Given the description of an element on the screen output the (x, y) to click on. 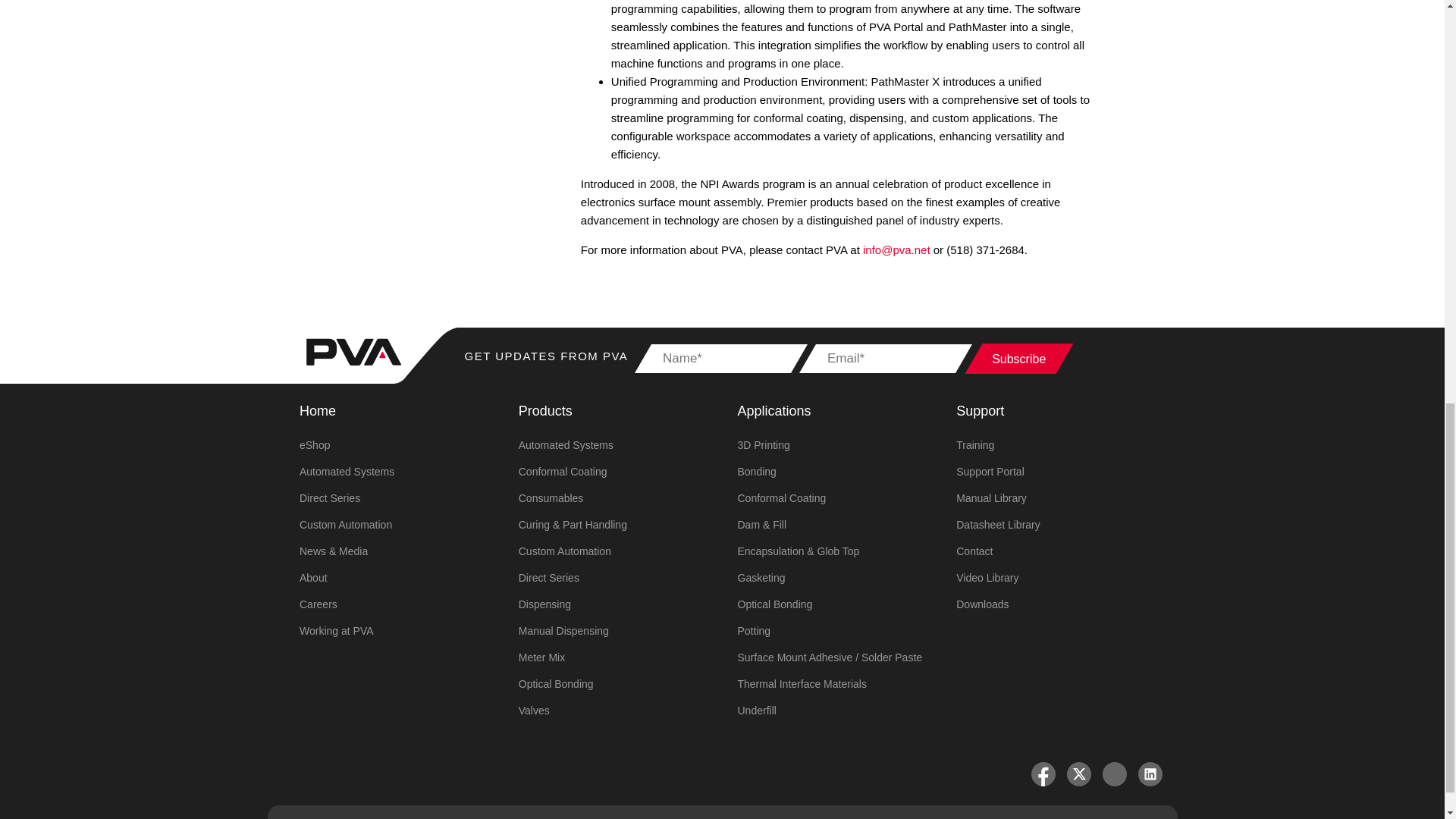
Follow our YouTube Channel (1114, 774)
Connect with us on LinkedIn (1149, 774)
Follow us on Twitter (1077, 774)
Add us on Facebook (1042, 774)
